Given the description of an element on the screen output the (x, y) to click on. 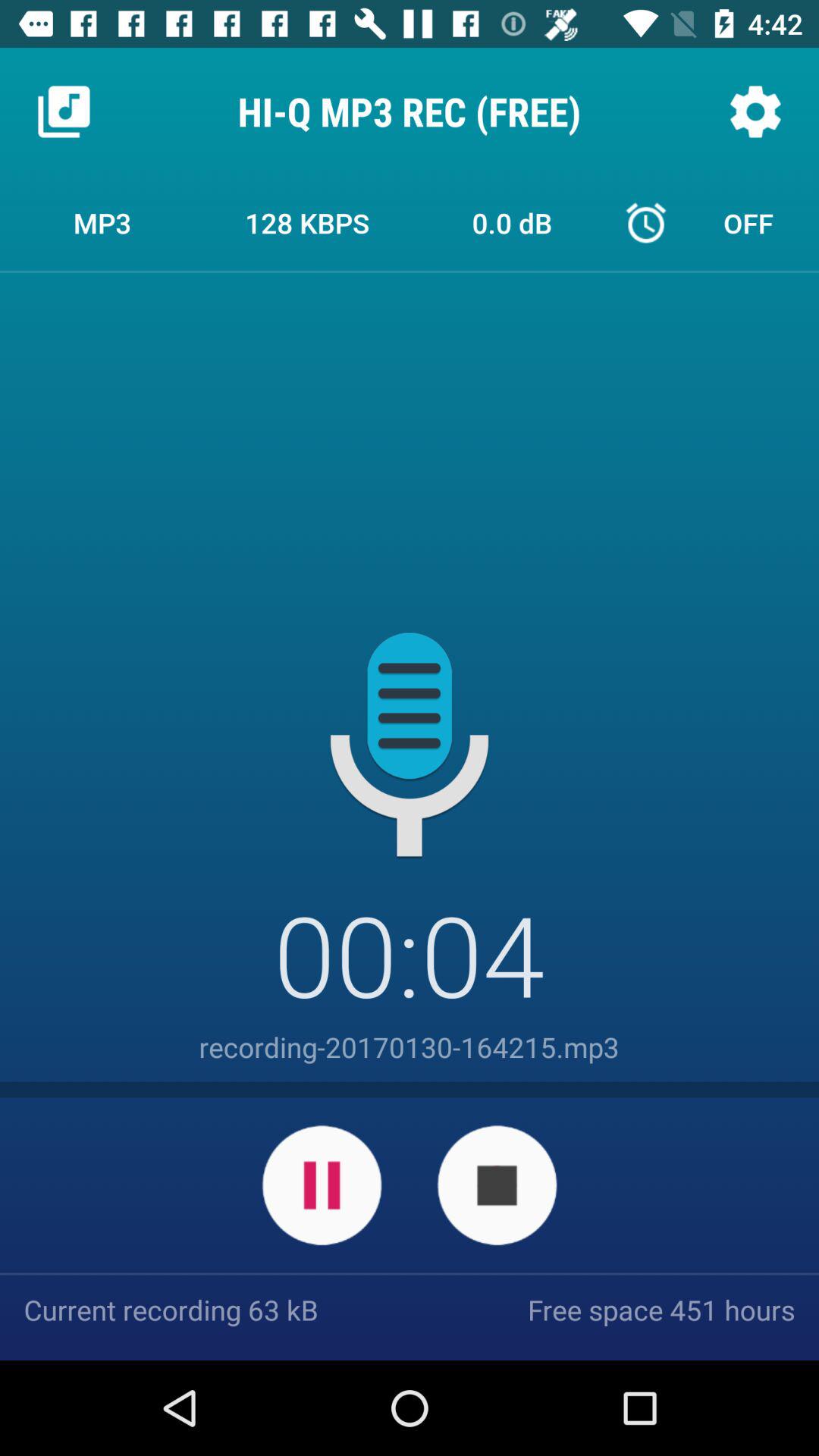
swipe to the 128 kbps item (306, 222)
